Given the description of an element on the screen output the (x, y) to click on. 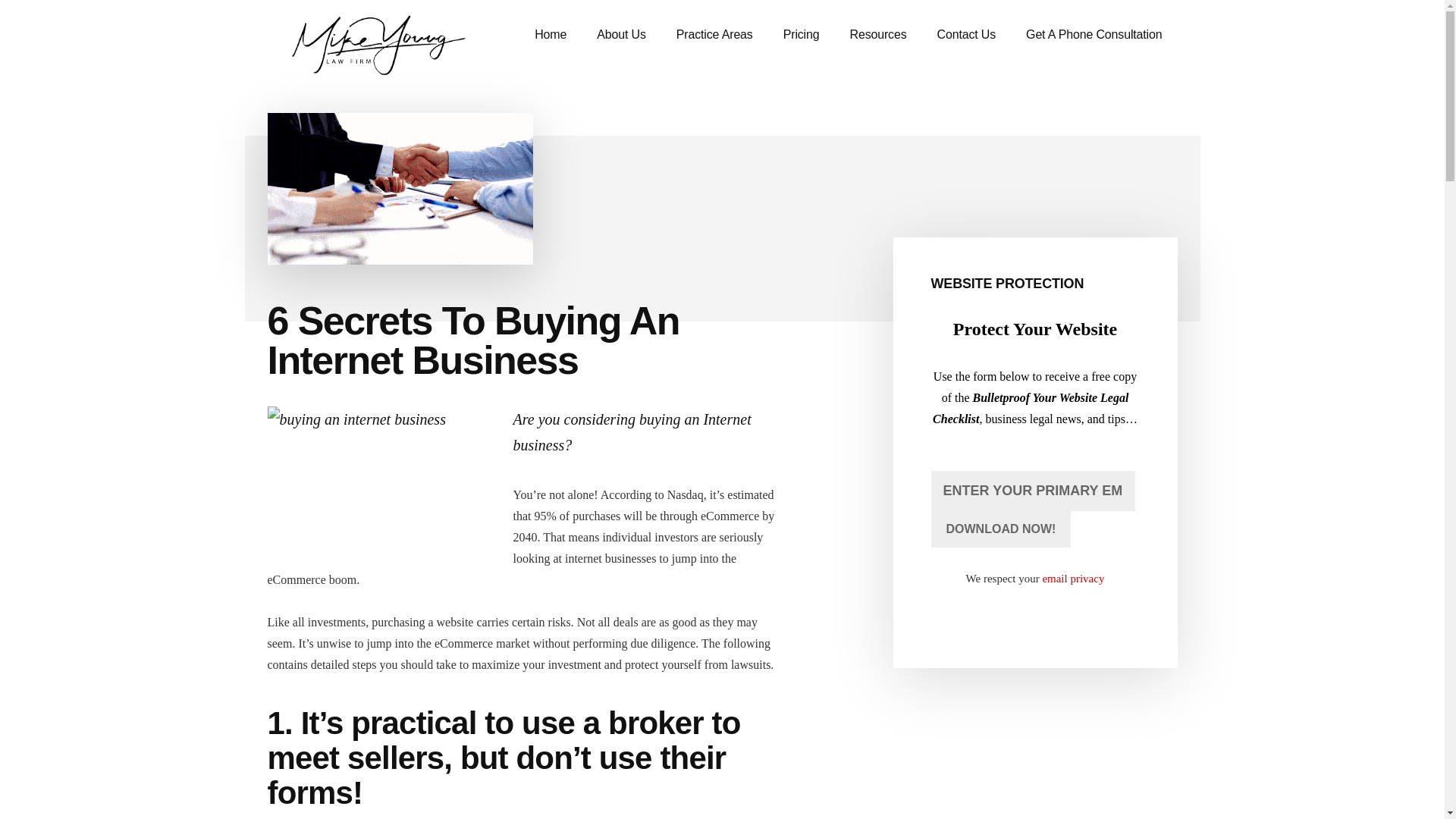
Home (549, 34)
email privacy (1072, 578)
Dallas Business Lawyer Home Page (549, 34)
Resources (877, 34)
Attorneys At Our Internet Law Firm (620, 34)
DOWNLOAD NOW! (1001, 529)
About Us (620, 34)
ENTER YOUR PRIMARY EMAIL (1033, 490)
Pricing (801, 34)
Business Lawyer Services (714, 34)
Practice Areas (714, 34)
Contact Us (966, 34)
Get A Phone Consultation (1093, 34)
DOWNLOAD NOW! (1001, 529)
